Given the description of an element on the screen output the (x, y) to click on. 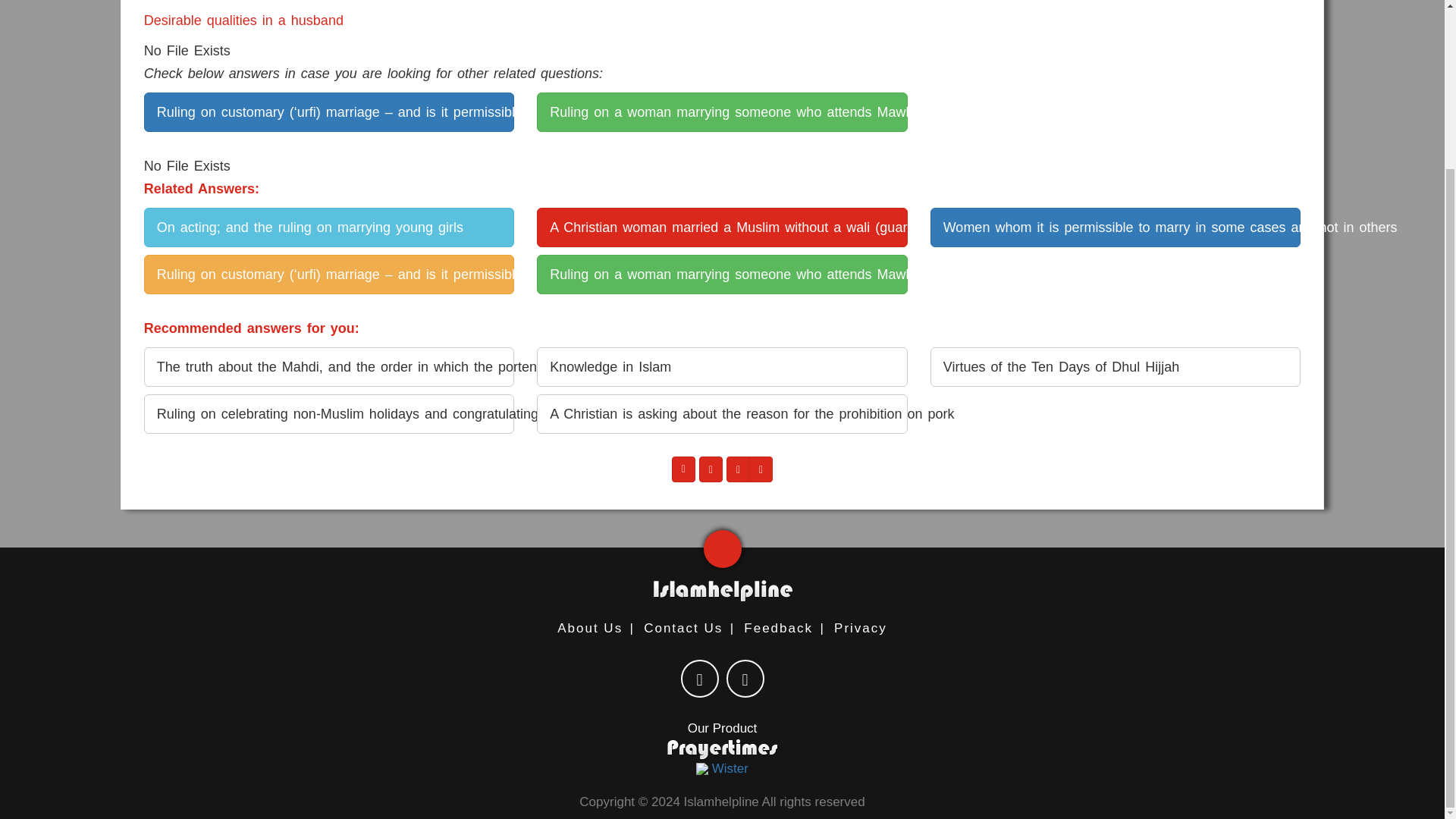
Virtues of the Ten Days of Dhul Hijjah (1115, 366)
Knowledge in Islam (722, 366)
On acting; and the ruling on marrying young girls (328, 227)
